Given the description of an element on the screen output the (x, y) to click on. 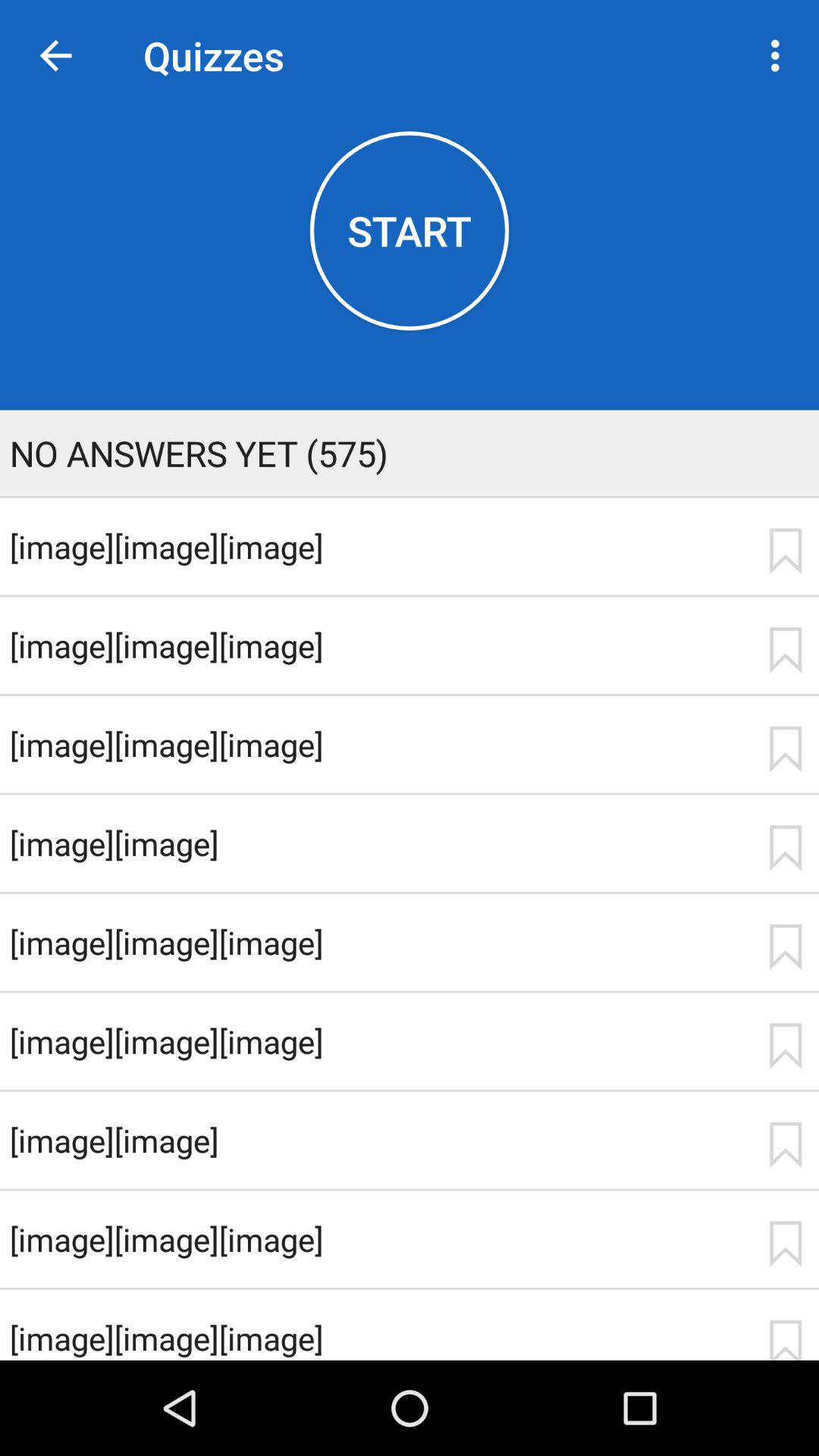
launch the app next to the [image][image][image] icon (784, 749)
